Given the description of an element on the screen output the (x, y) to click on. 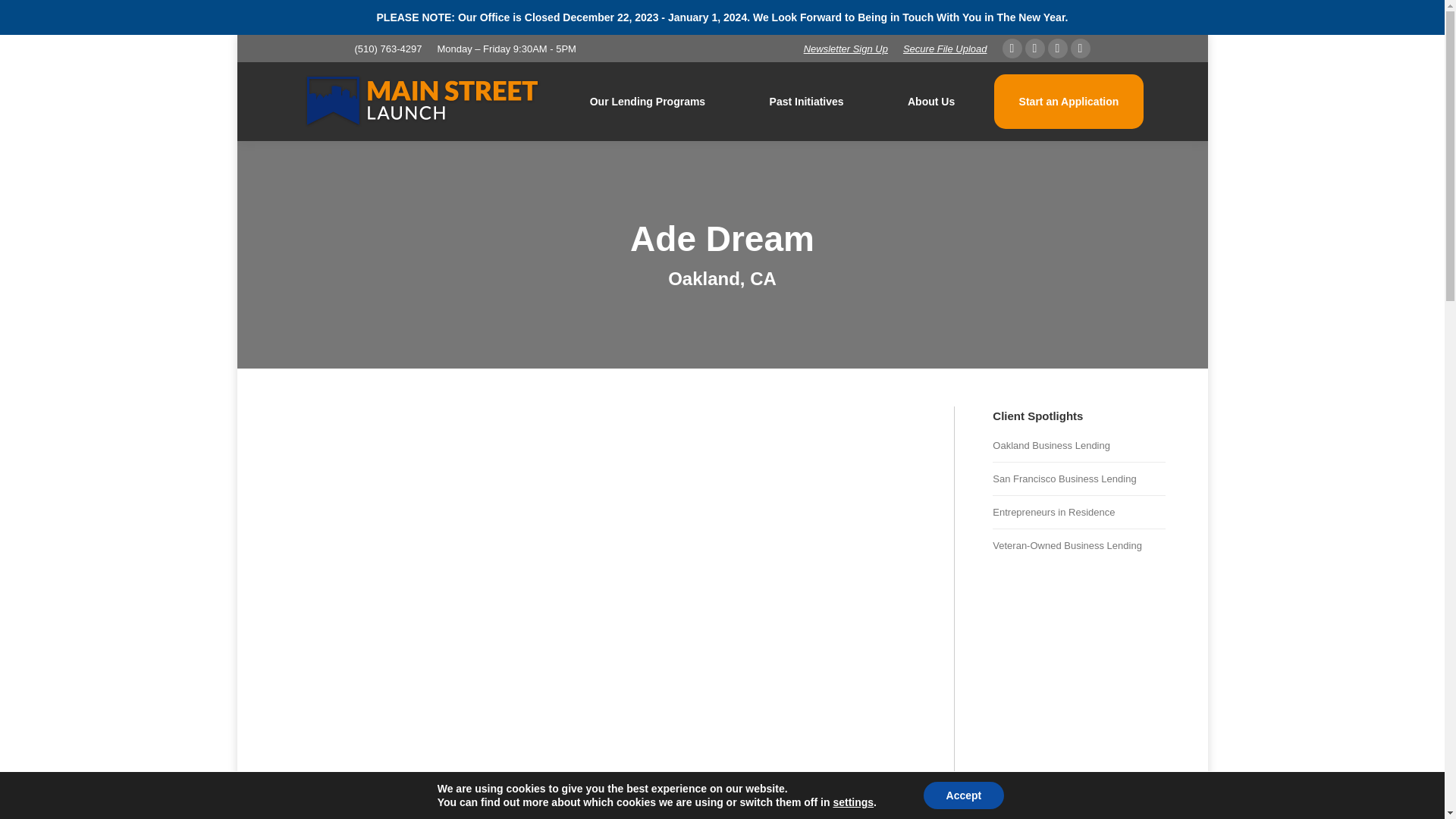
Instagram page opens in new window (1057, 48)
Facebook page opens in new window (1012, 48)
Start an Application (1068, 101)
Go! (24, 16)
Linkedin page opens in new window (1080, 48)
X page opens in new window (1035, 48)
Past Initiatives (805, 101)
X page opens in new window (1035, 48)
Newsletter Sign Up (845, 48)
About Us (931, 101)
